Given the description of an element on the screen output the (x, y) to click on. 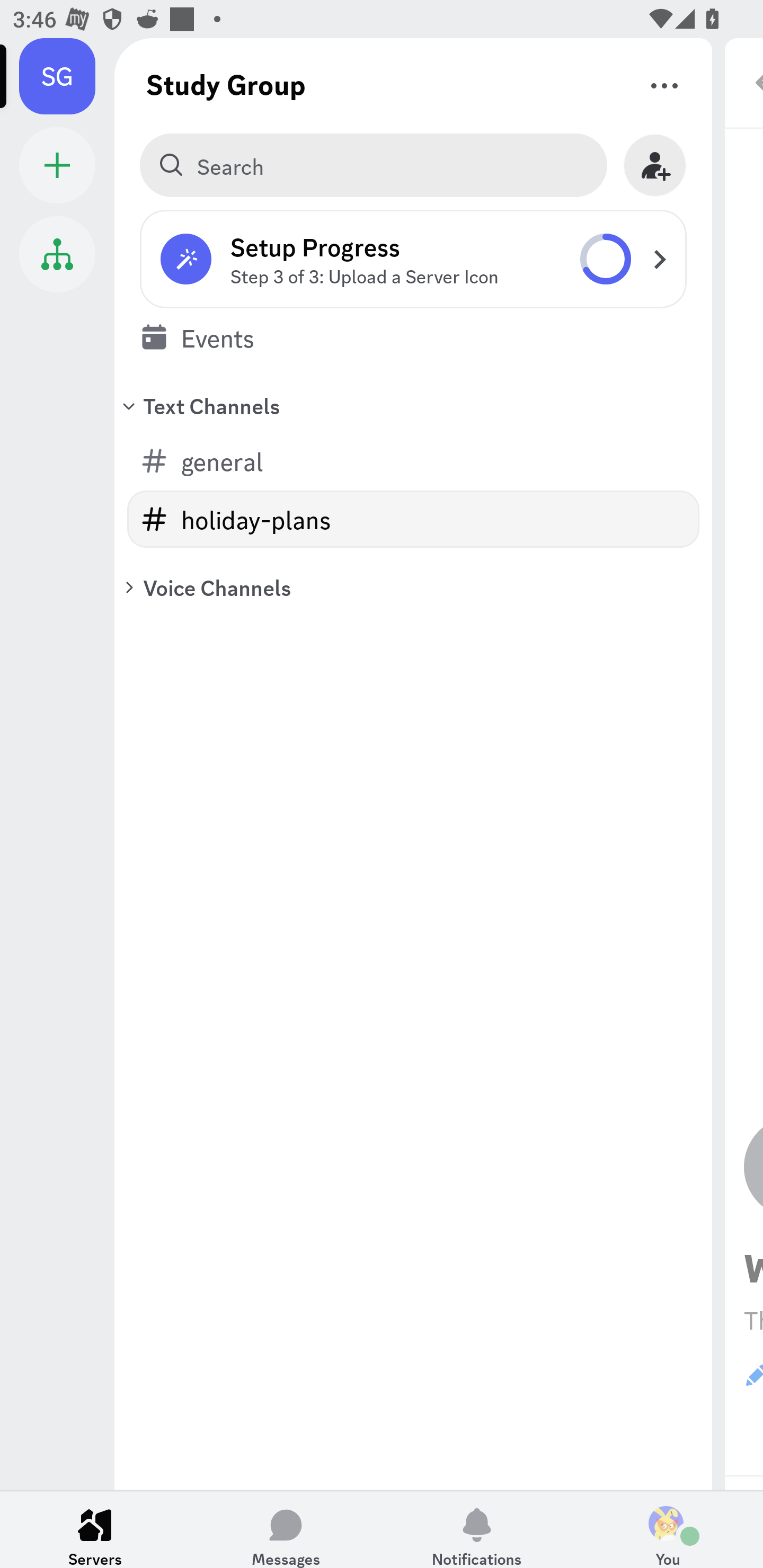
  Study Group SG (66, 75)
Study Group (226, 83)
Add a Server (57, 165)
Search (373, 165)
Invite (654, 165)
Student Hub (57, 253)
Events (413, 336)
Text Channels (412, 404)
general (text channel) general (413, 460)
holiday-plans (text channel) holiday-plans (413, 518)
Voice Channels (412, 586)
Servers (95, 1529)
Messages (285, 1529)
Notifications (476, 1529)
You (667, 1529)
